Given the description of an element on the screen output the (x, y) to click on. 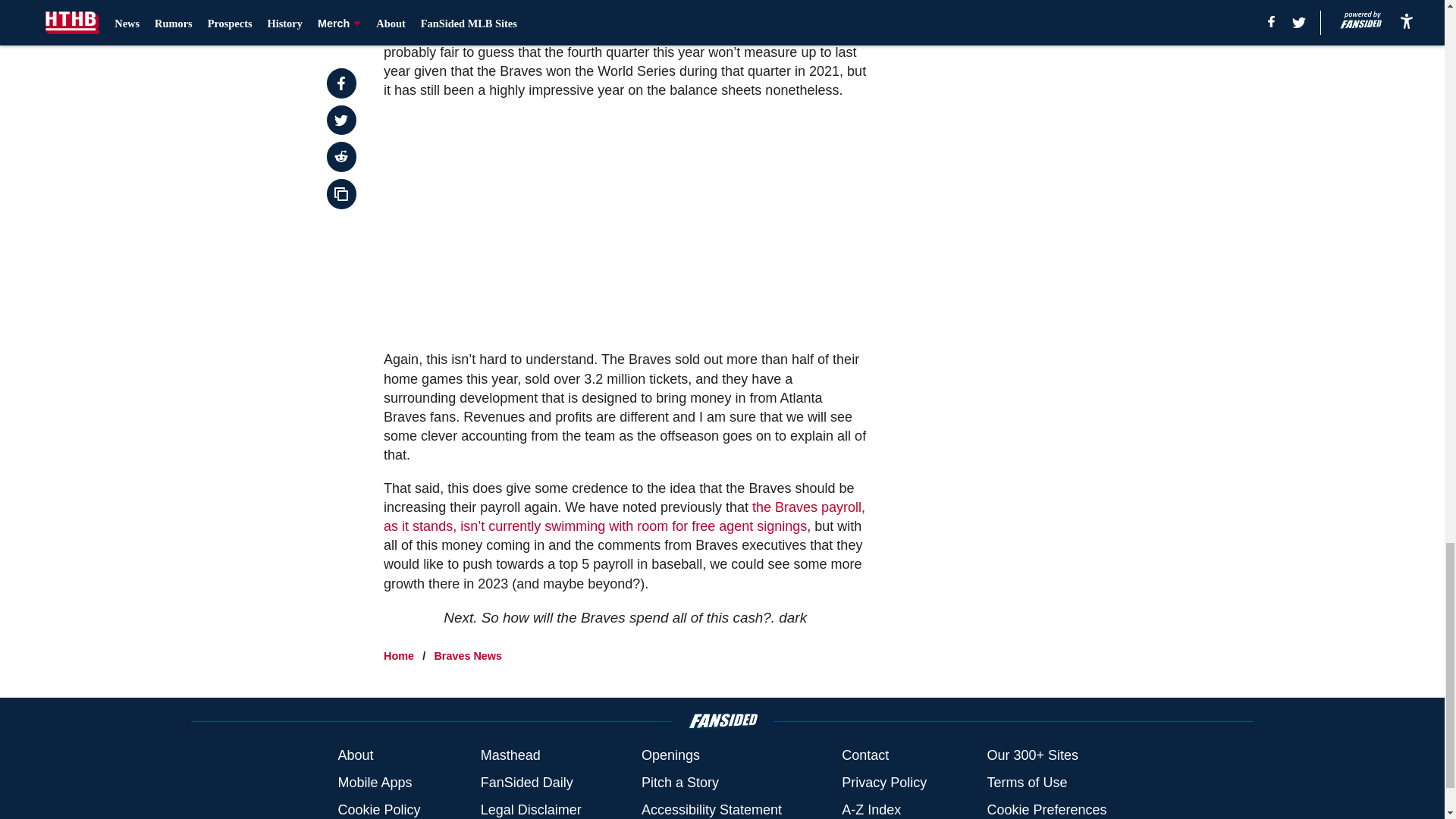
Home (398, 655)
About (354, 754)
Braves News (467, 655)
